Given the description of an element on the screen output the (x, y) to click on. 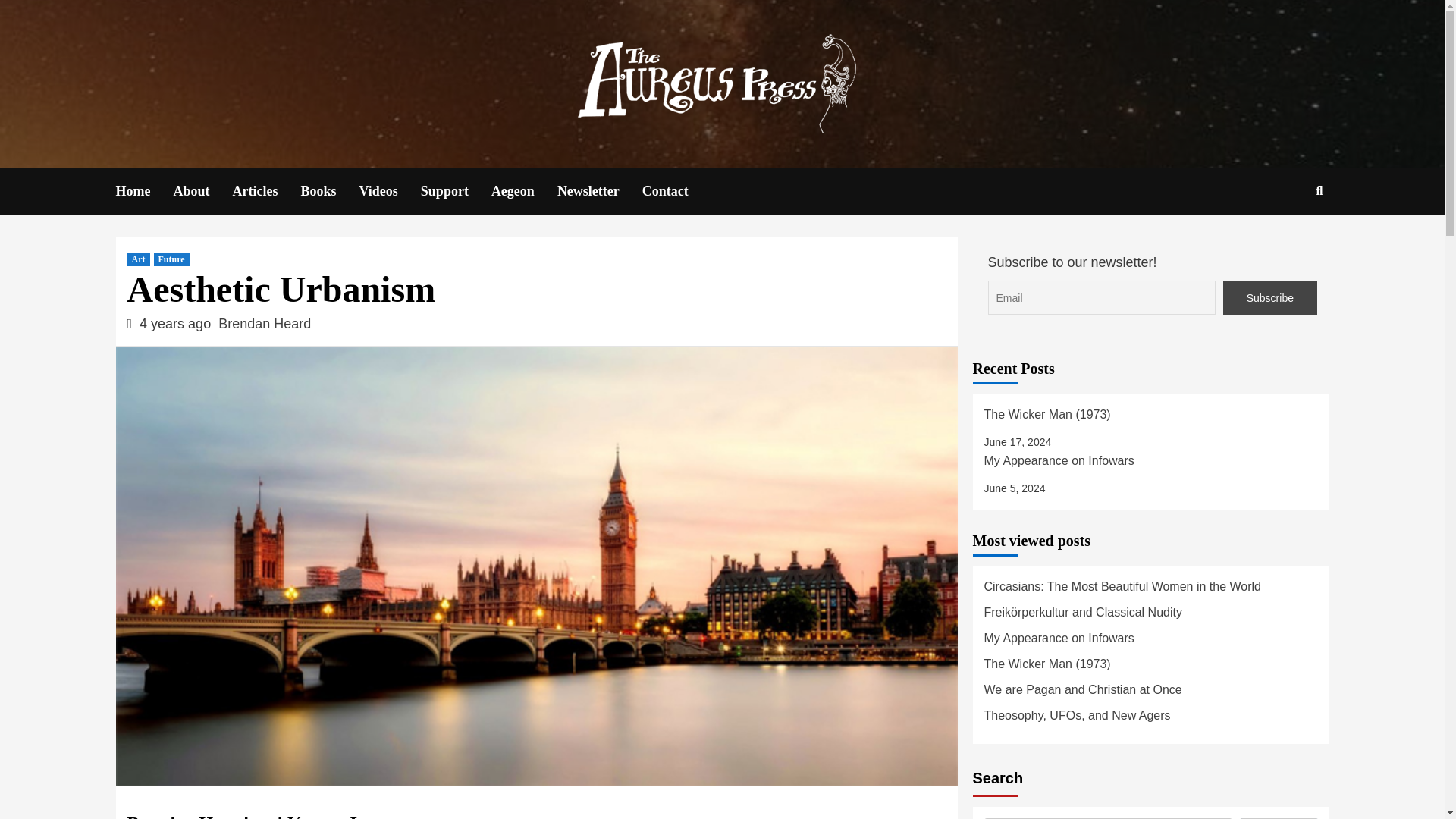
Newsletter (599, 191)
Support (456, 191)
Brendan Heard (264, 323)
Aegeon (524, 191)
Contact (676, 191)
Subscribe (1270, 297)
Art (138, 259)
About (202, 191)
Videos (389, 191)
Home (144, 191)
Articles (265, 191)
Search (1283, 239)
Books (328, 191)
Future (170, 259)
